Given the description of an element on the screen output the (x, y) to click on. 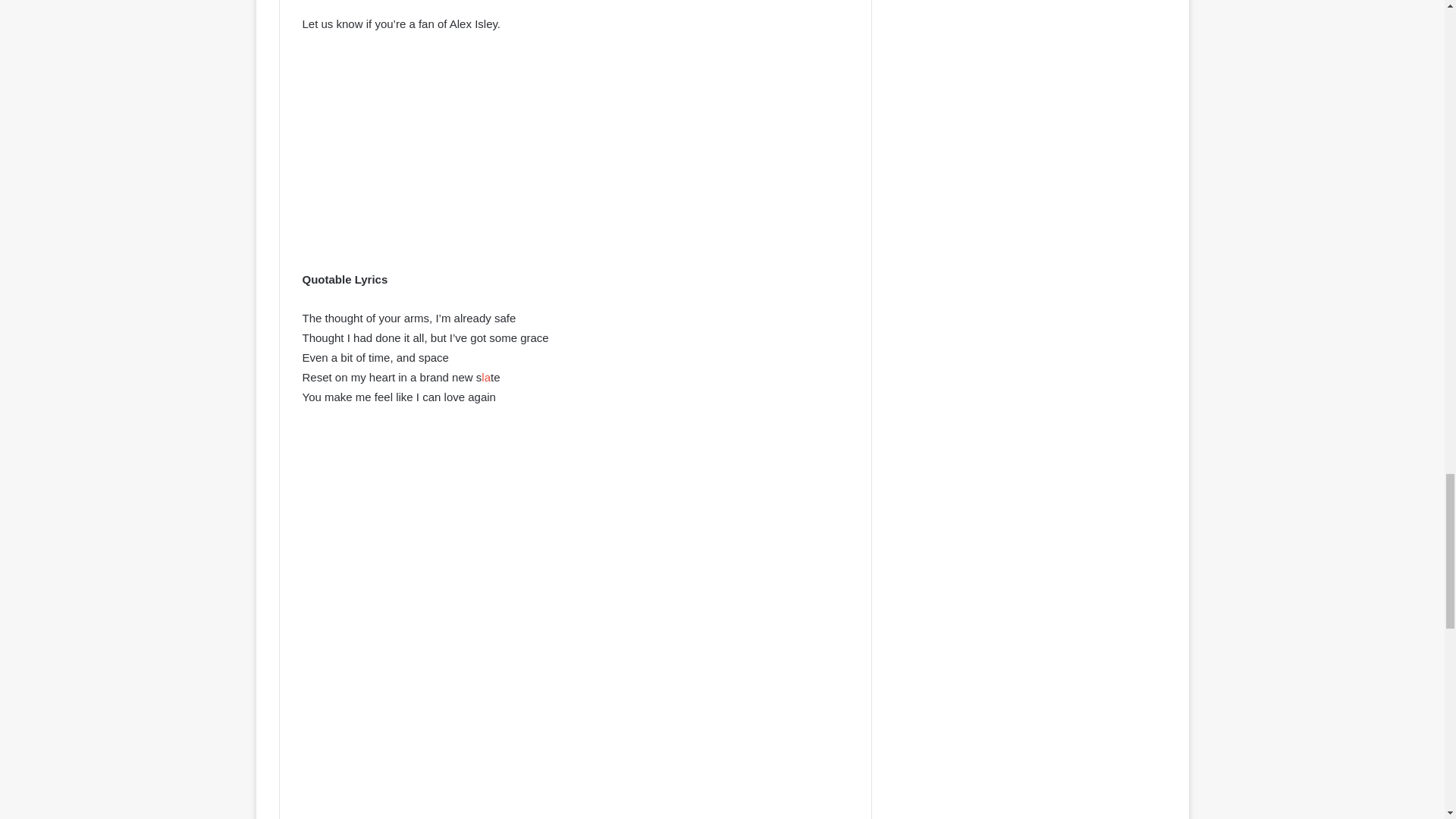
Spotify Embed: Love Again (574, 483)
la (485, 377)
Advertisement (574, 711)
Advertisement (574, 159)
